Given the description of an element on the screen output the (x, y) to click on. 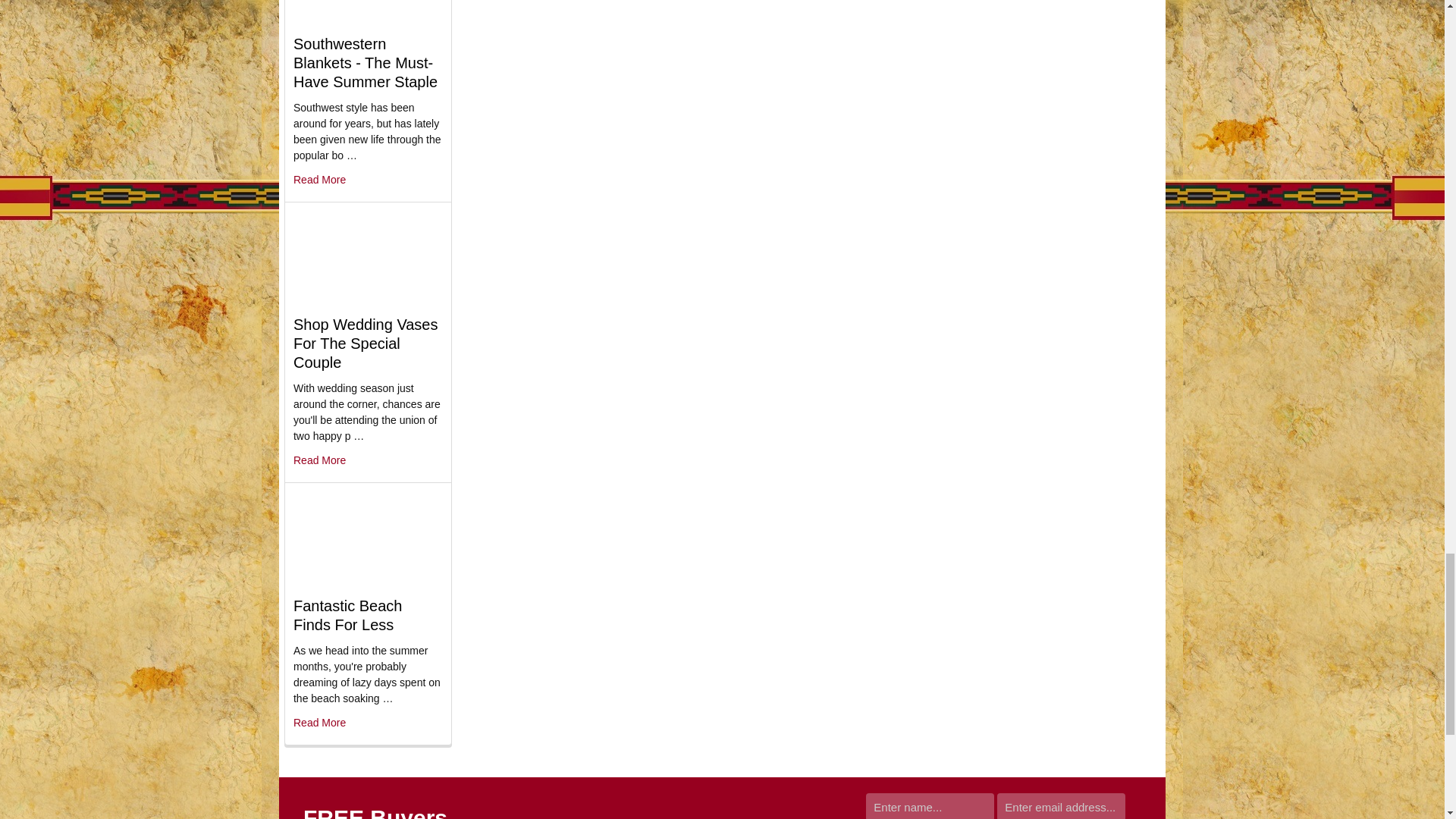
Southwestern Blankets - The Must-Have Summer Staple (368, 13)
Enter email address... (1061, 806)
Enter name... (930, 806)
Fantastic Beach Finds For Less (368, 538)
Shop Wedding Vases For The Special Couple (368, 257)
